Given the description of an element on the screen output the (x, y) to click on. 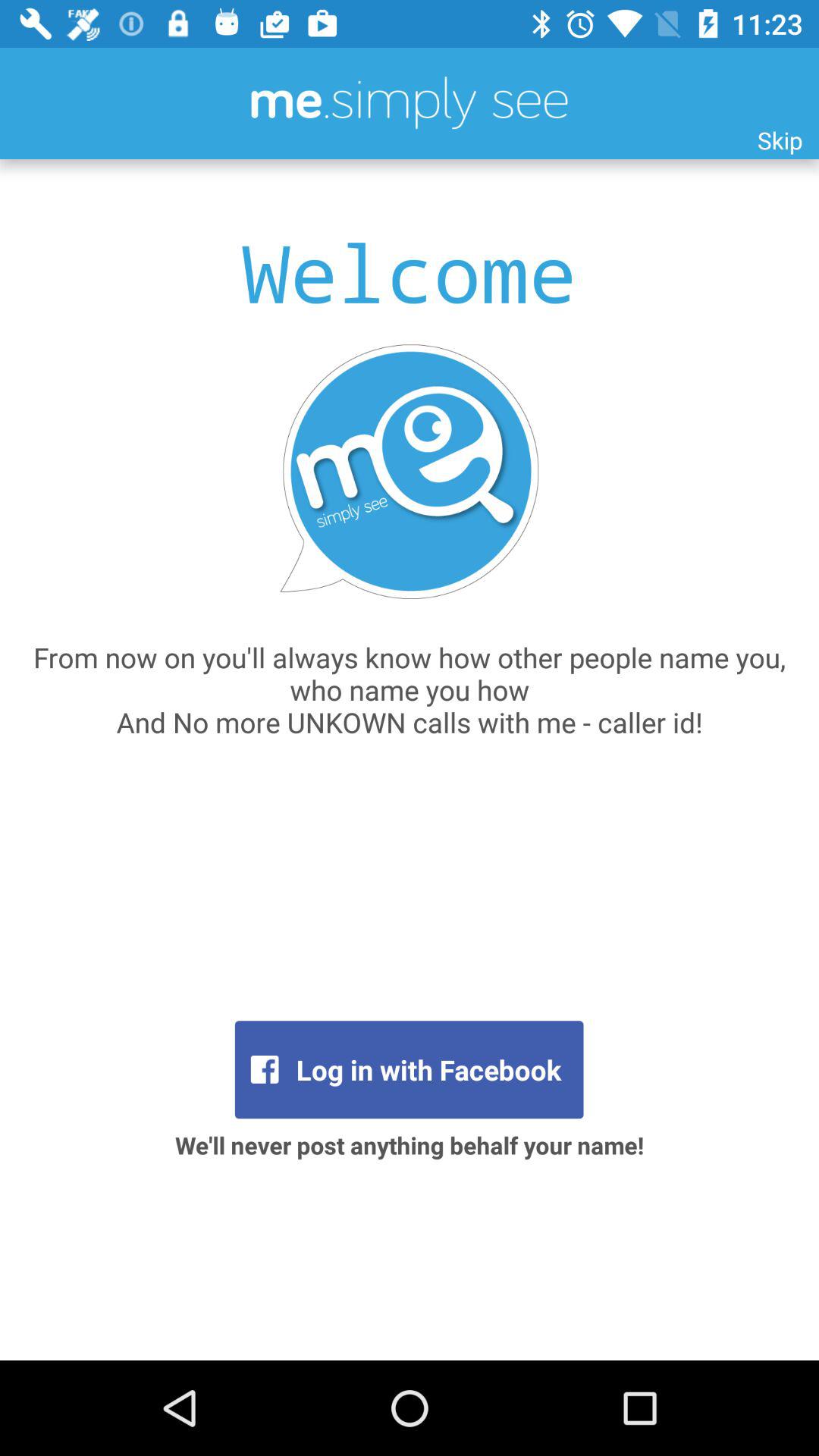
press the item at the top right corner (780, 139)
